Given the description of an element on the screen output the (x, y) to click on. 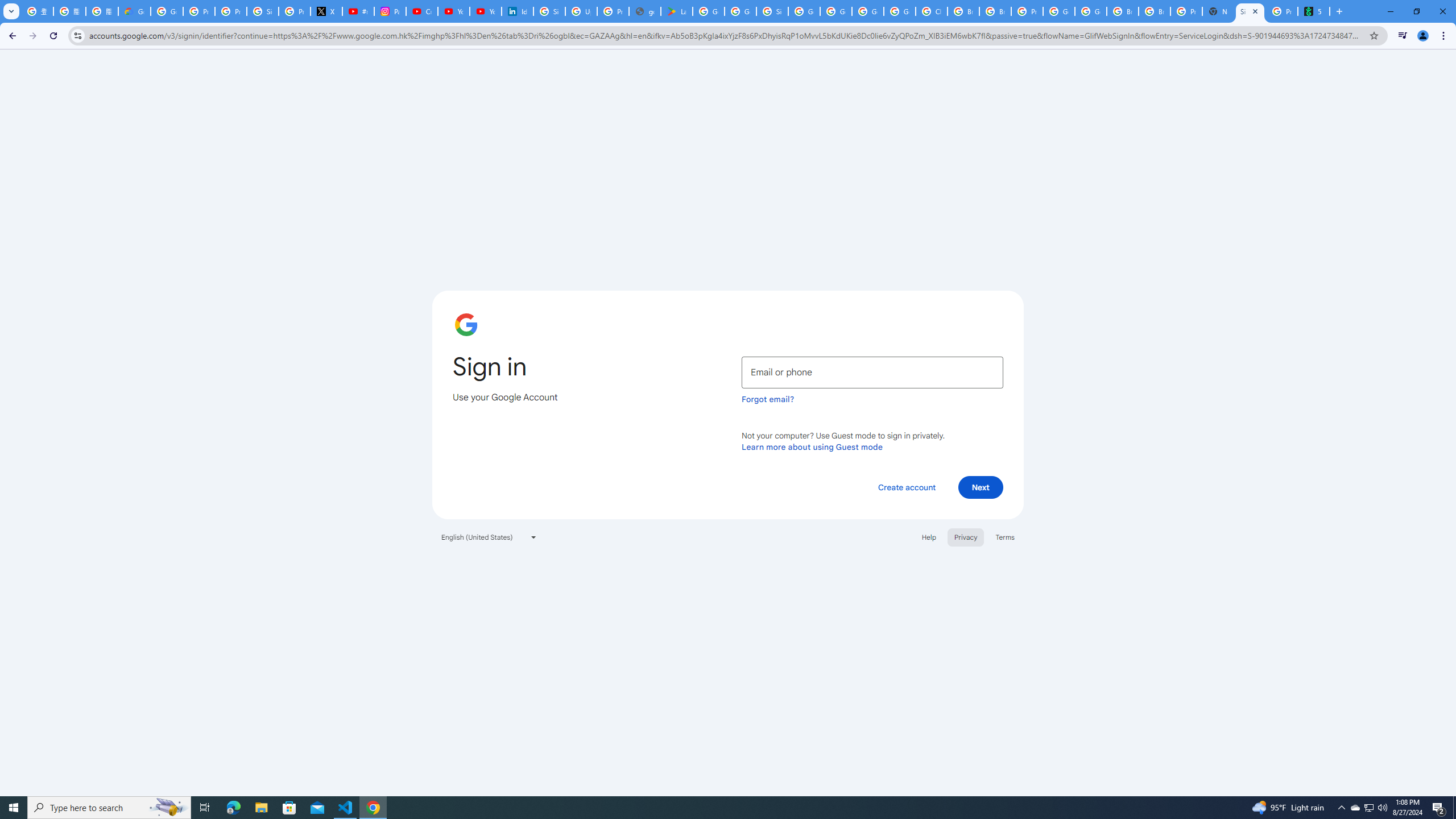
#nbabasketballhighlights - YouTube (358, 11)
YouTube Culture & Trends - YouTube Top 10, 2021 (485, 11)
Google Cloud Privacy Notice (134, 11)
